Given the description of an element on the screen output the (x, y) to click on. 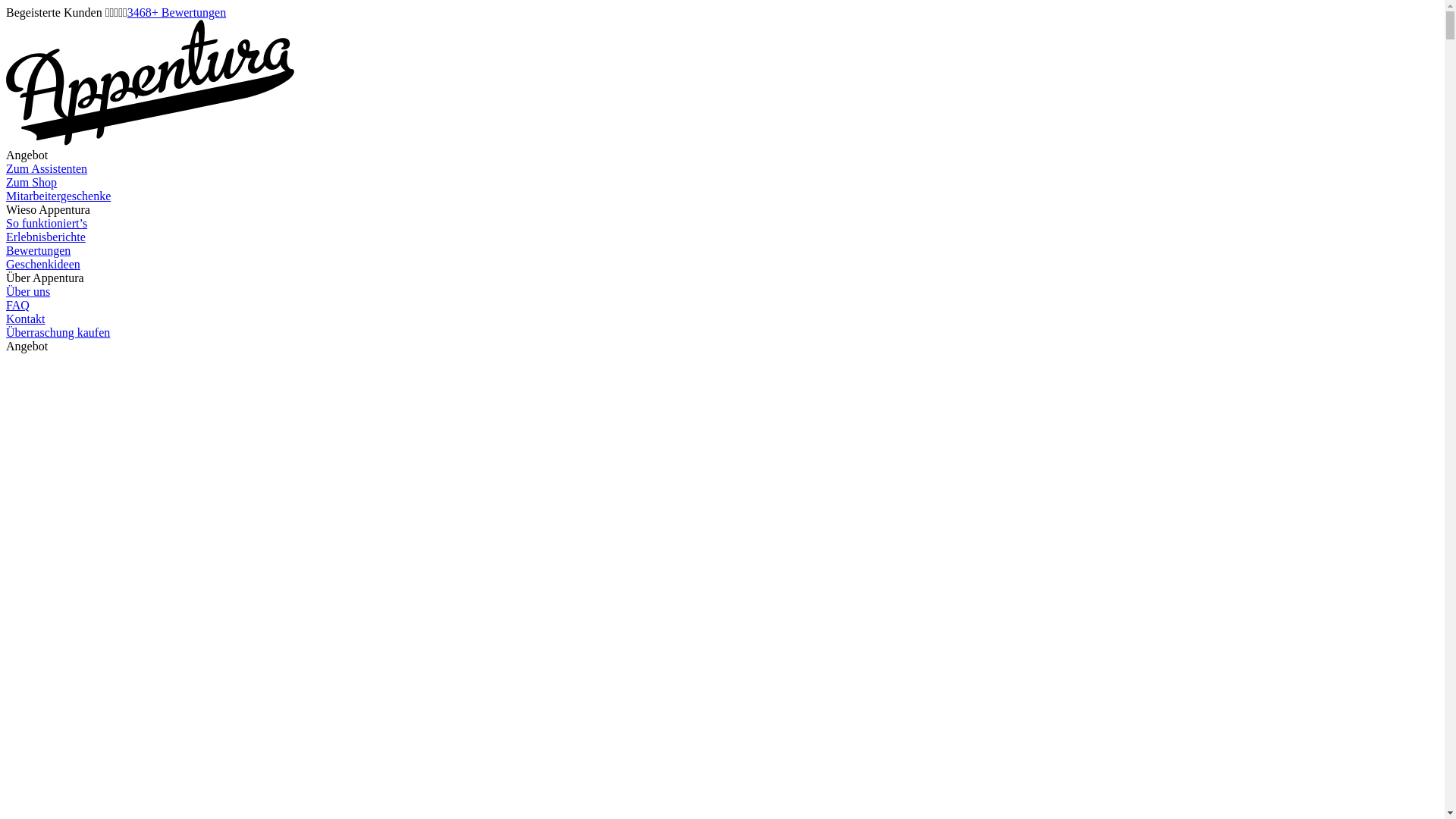
Kontakt Element type: text (25, 318)
Zum Assistenten Element type: text (46, 168)
FAQ Element type: text (17, 304)
Bewertungen Element type: text (38, 250)
Mitarbeitergeschenke Element type: text (58, 195)
Geschenkideen Element type: text (43, 263)
Zum Shop Element type: text (31, 181)
Erlebnisberichte Element type: text (45, 236)
3468+ Bewertungen Element type: text (176, 12)
